Given the description of an element on the screen output the (x, y) to click on. 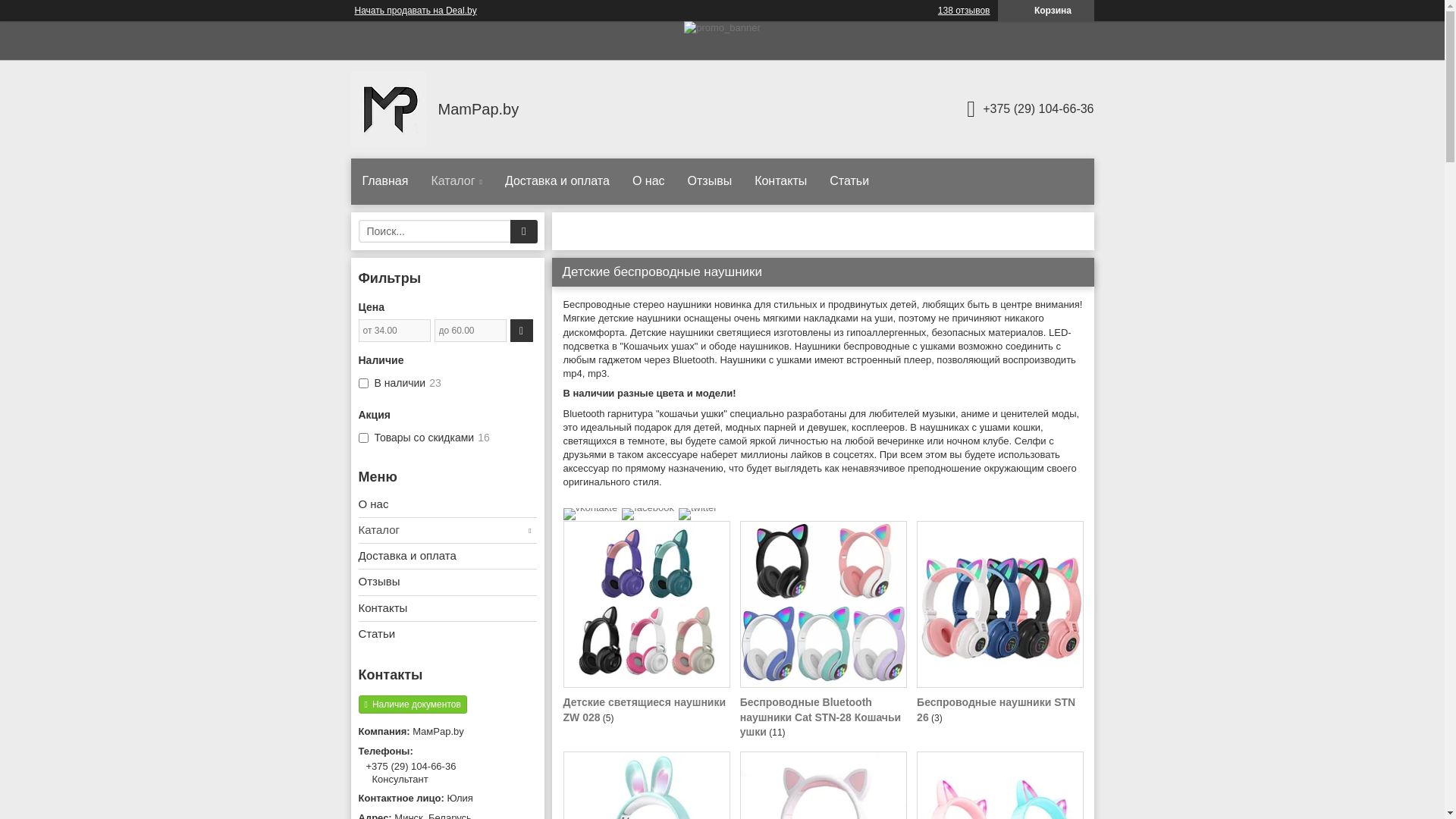
facebook Element type: hover (647, 507)
twitter Element type: hover (697, 507)
